Given the description of an element on the screen output the (x, y) to click on. 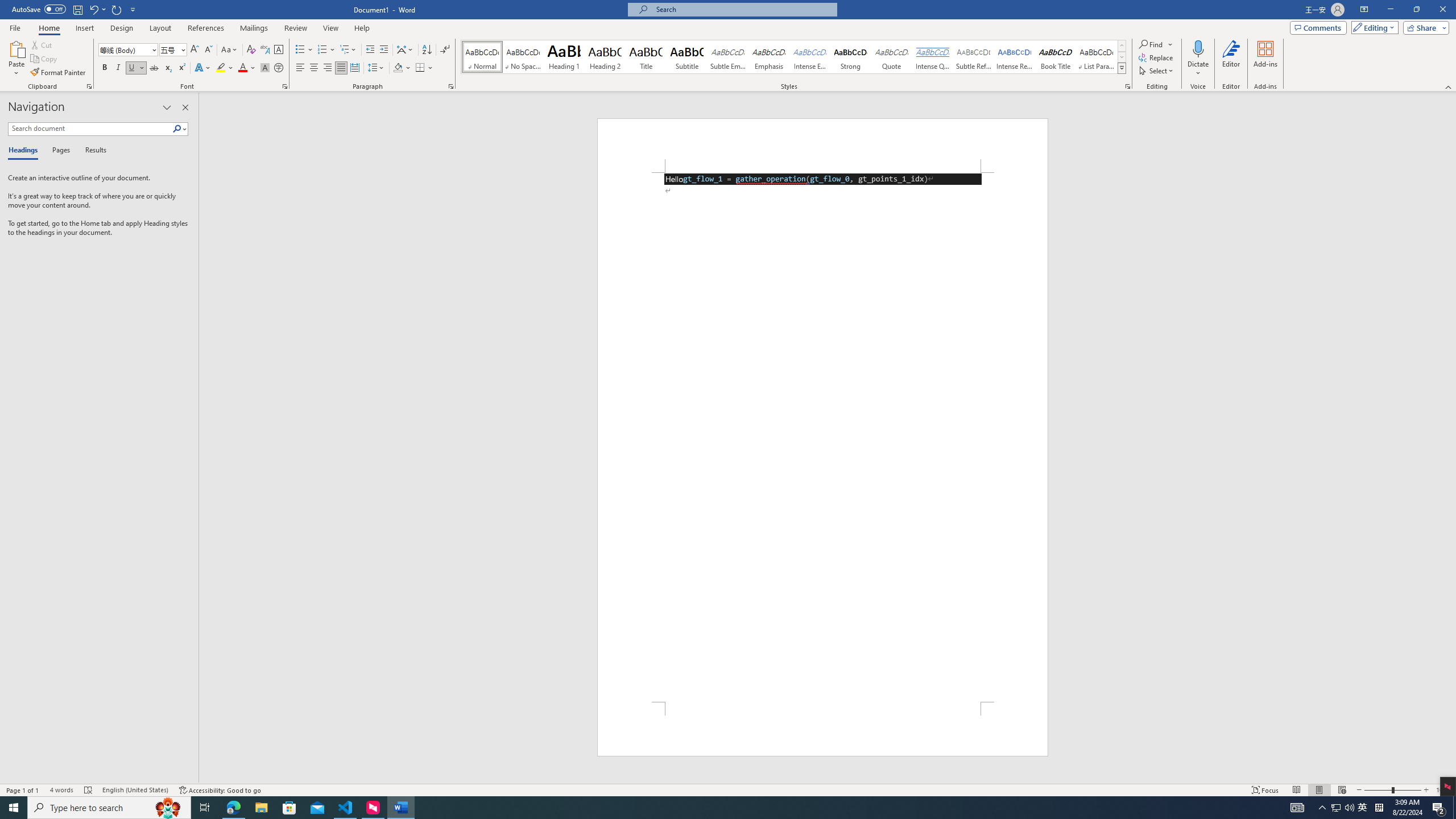
Row up (1121, 45)
Subtle Emphasis (727, 56)
Phonetic Guide... (264, 49)
Styles... (1127, 85)
Mode (1372, 27)
Intense Reference (1014, 56)
Pages (59, 150)
Search document (89, 128)
